Given the description of an element on the screen output the (x, y) to click on. 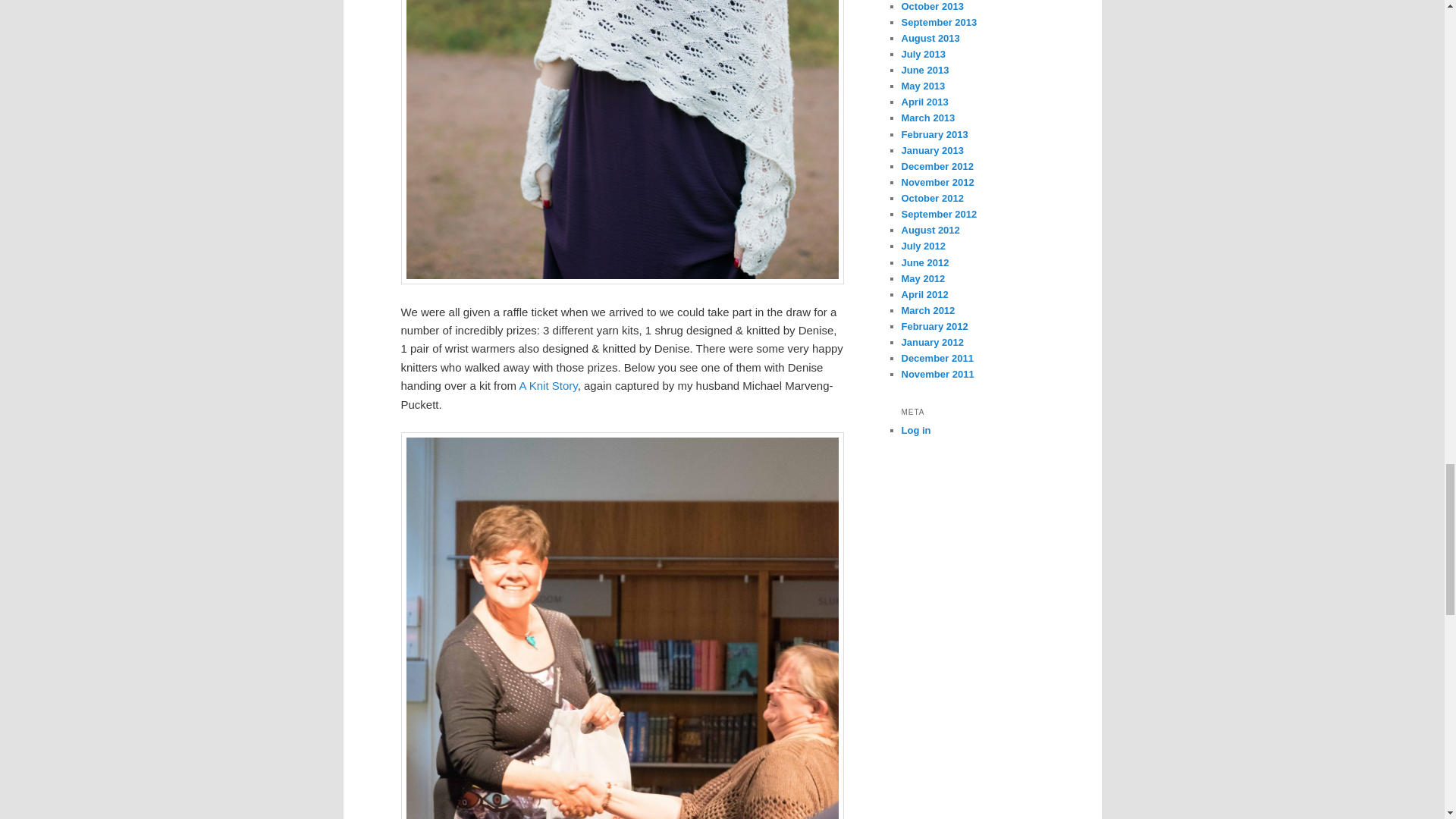
A Knit Story (547, 385)
